Given the description of an element on the screen output the (x, y) to click on. 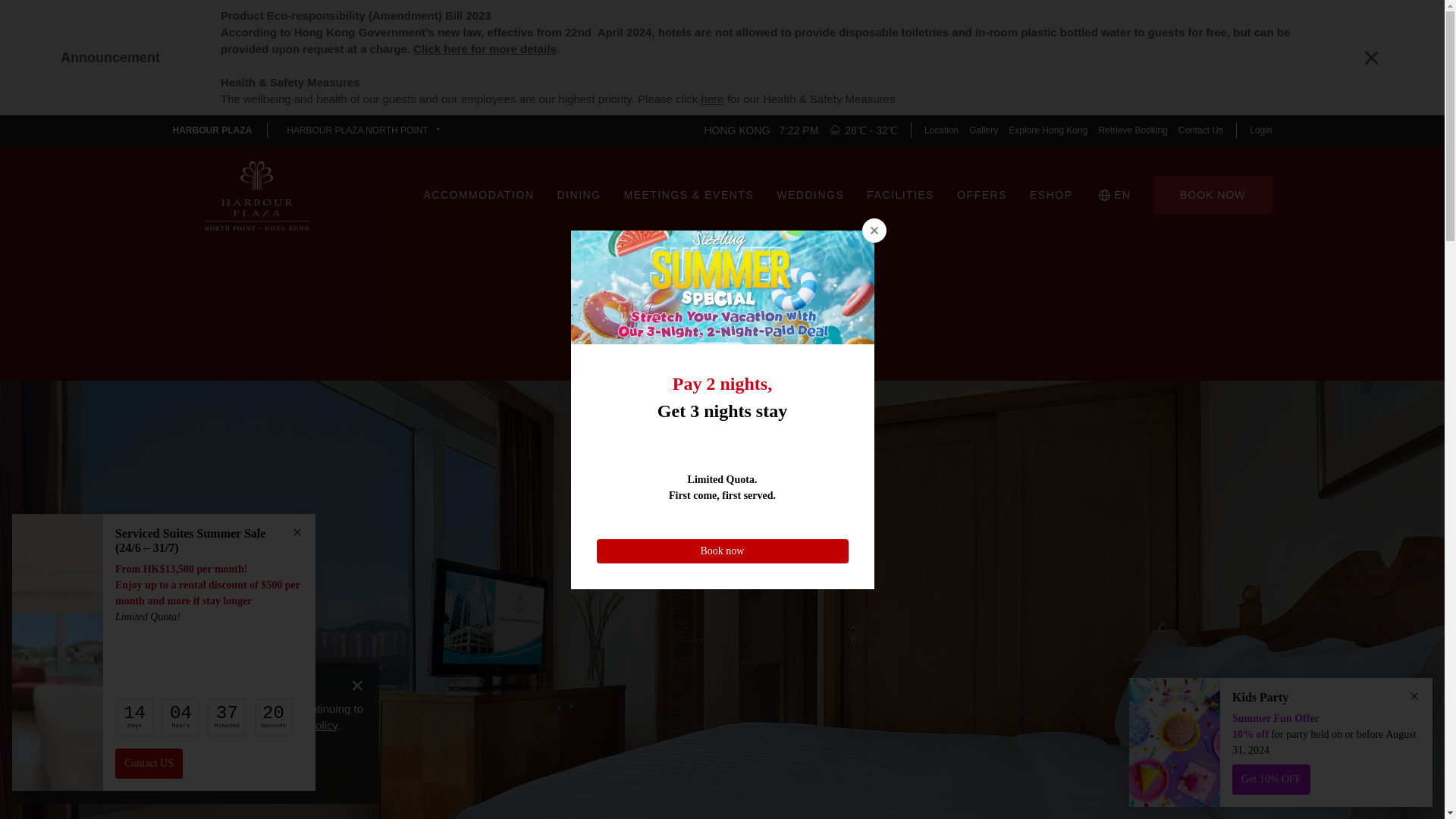
Overlay Message (163, 660)
here (711, 98)
Click here for more details (484, 48)
HARBOUR PLAZA (212, 130)
